Given the description of an element on the screen output the (x, y) to click on. 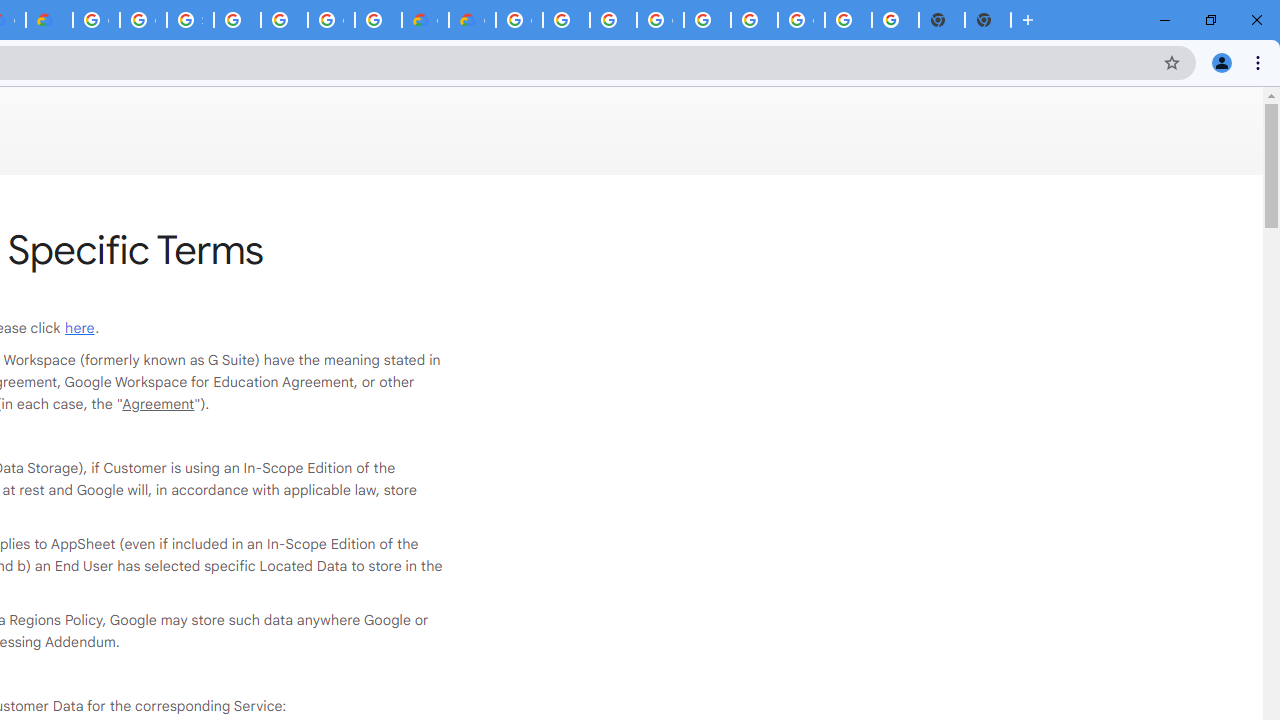
Browse Chrome as a guest - Computer - Google Chrome Help (613, 20)
Sign in - Google Accounts (189, 20)
Google Cloud Platform (801, 20)
Google Cloud Platform (96, 20)
Customer Care | Google Cloud (425, 20)
